Given the description of an element on the screen output the (x, y) to click on. 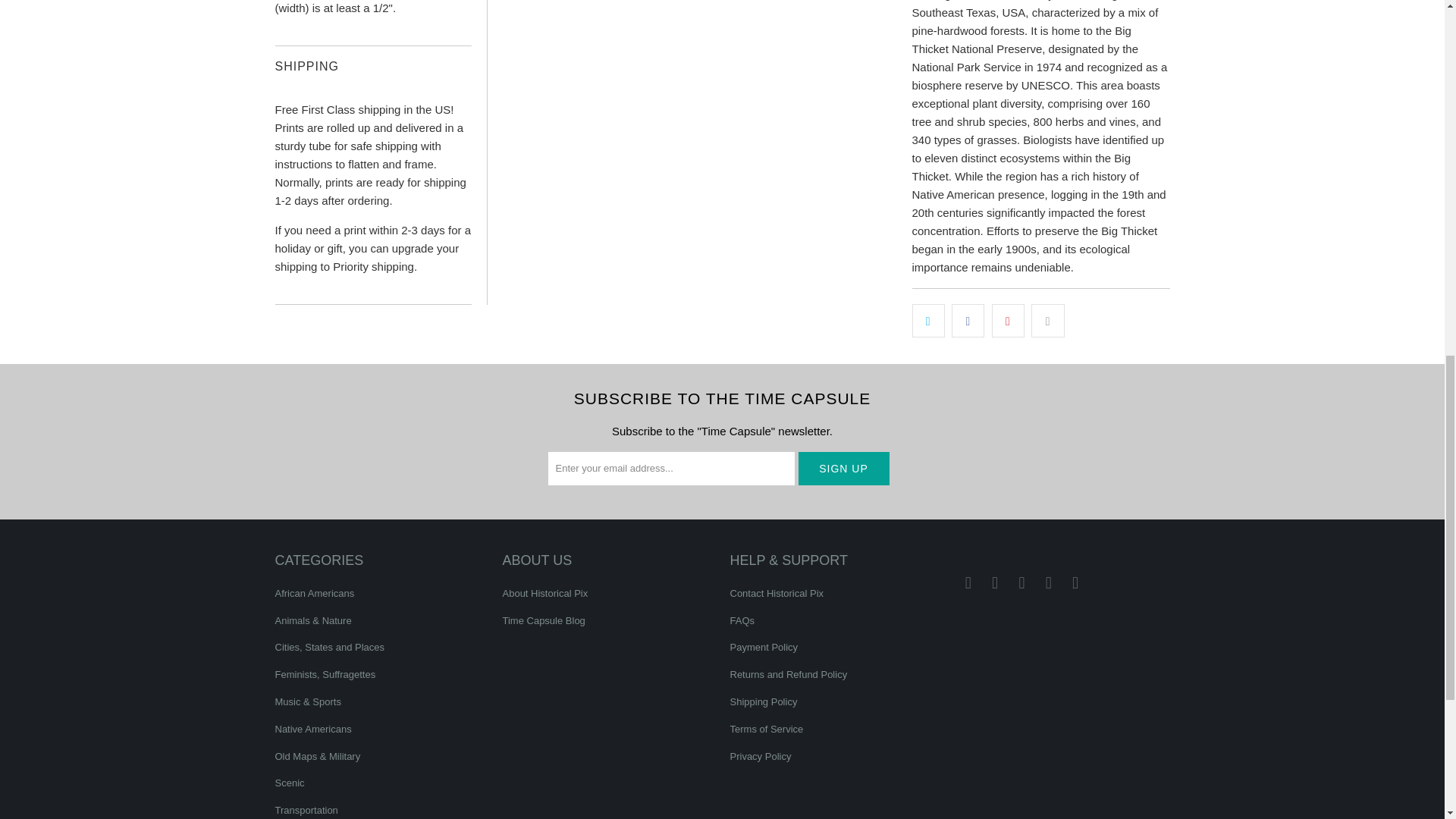
Share this on Twitter (927, 320)
Share this on Facebook (968, 320)
Email this to a friend (1047, 320)
Share this on Pinterest (1008, 320)
Sign Up (842, 468)
